Given the description of an element on the screen output the (x, y) to click on. 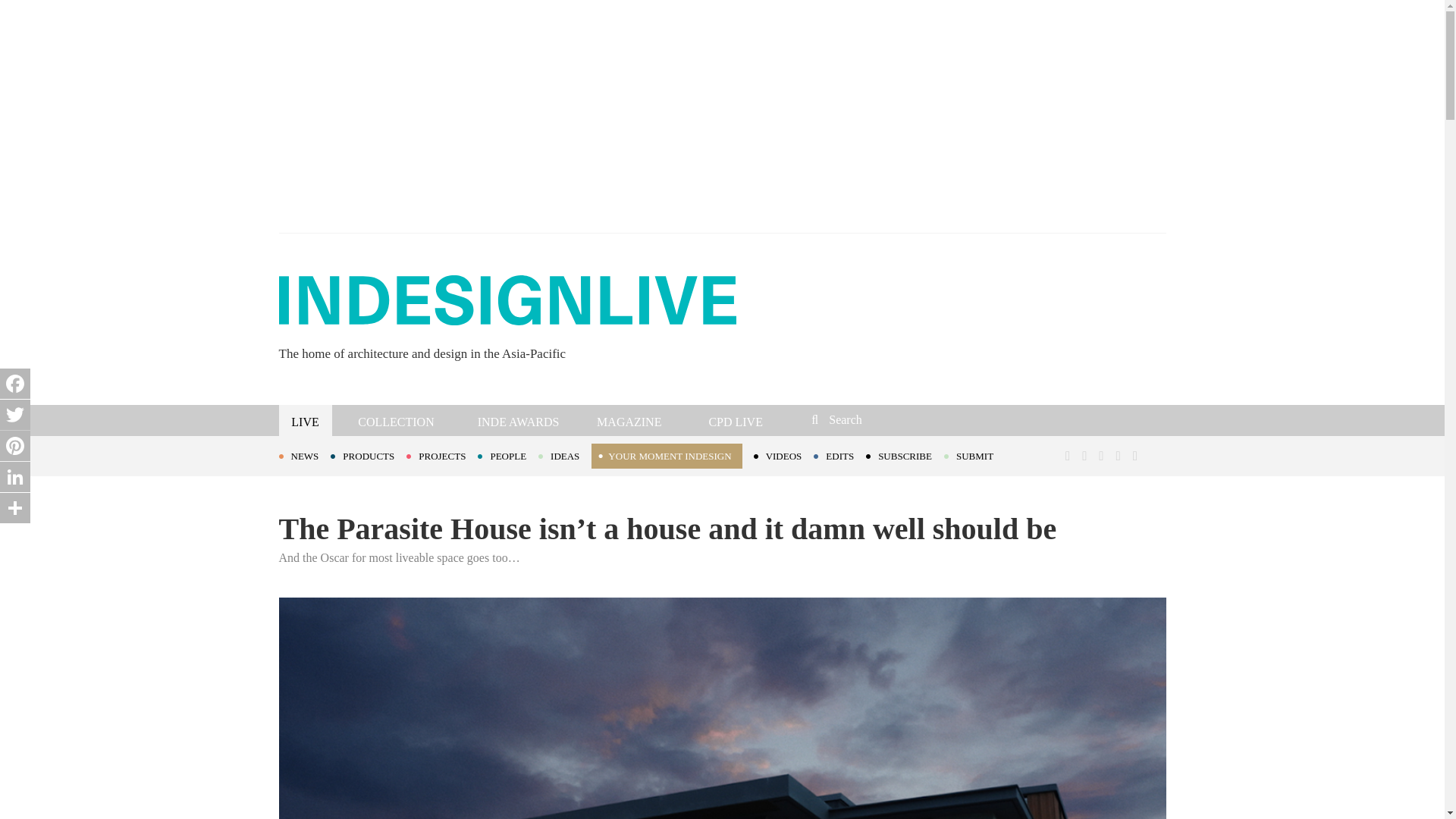
PEOPLE (507, 455)
PROJECTS (441, 455)
Search (913, 418)
YOUR MOMENT INDESIGN (666, 455)
IDEAS (564, 455)
EDITS (839, 455)
PRODUCTS (368, 455)
SUBSCRIBE (904, 455)
VIDEOS (783, 455)
